Given the description of an element on the screen output the (x, y) to click on. 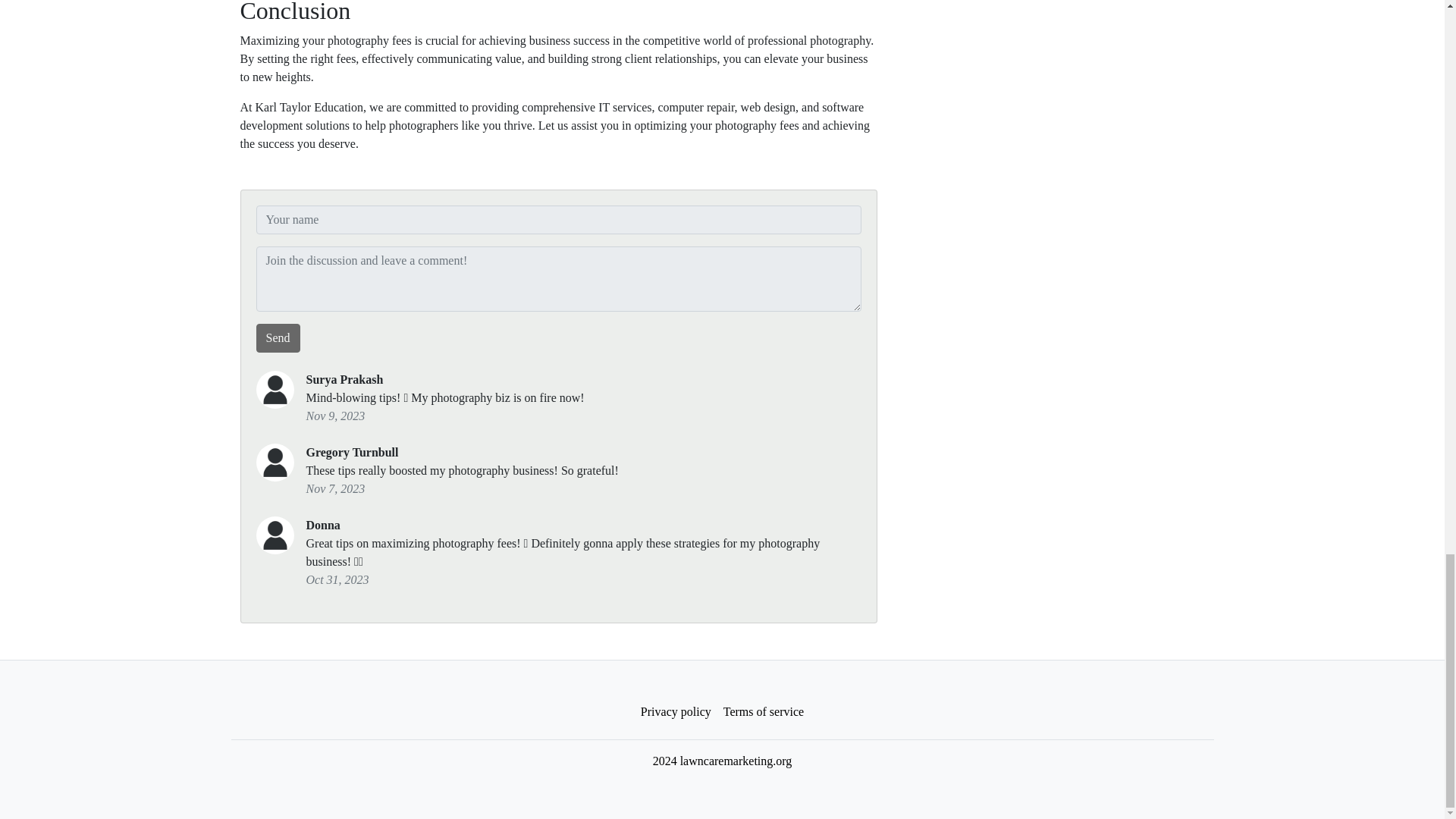
Send (277, 337)
Send (277, 337)
Terms of service (763, 711)
Privacy policy (675, 711)
